Given the description of an element on the screen output the (x, y) to click on. 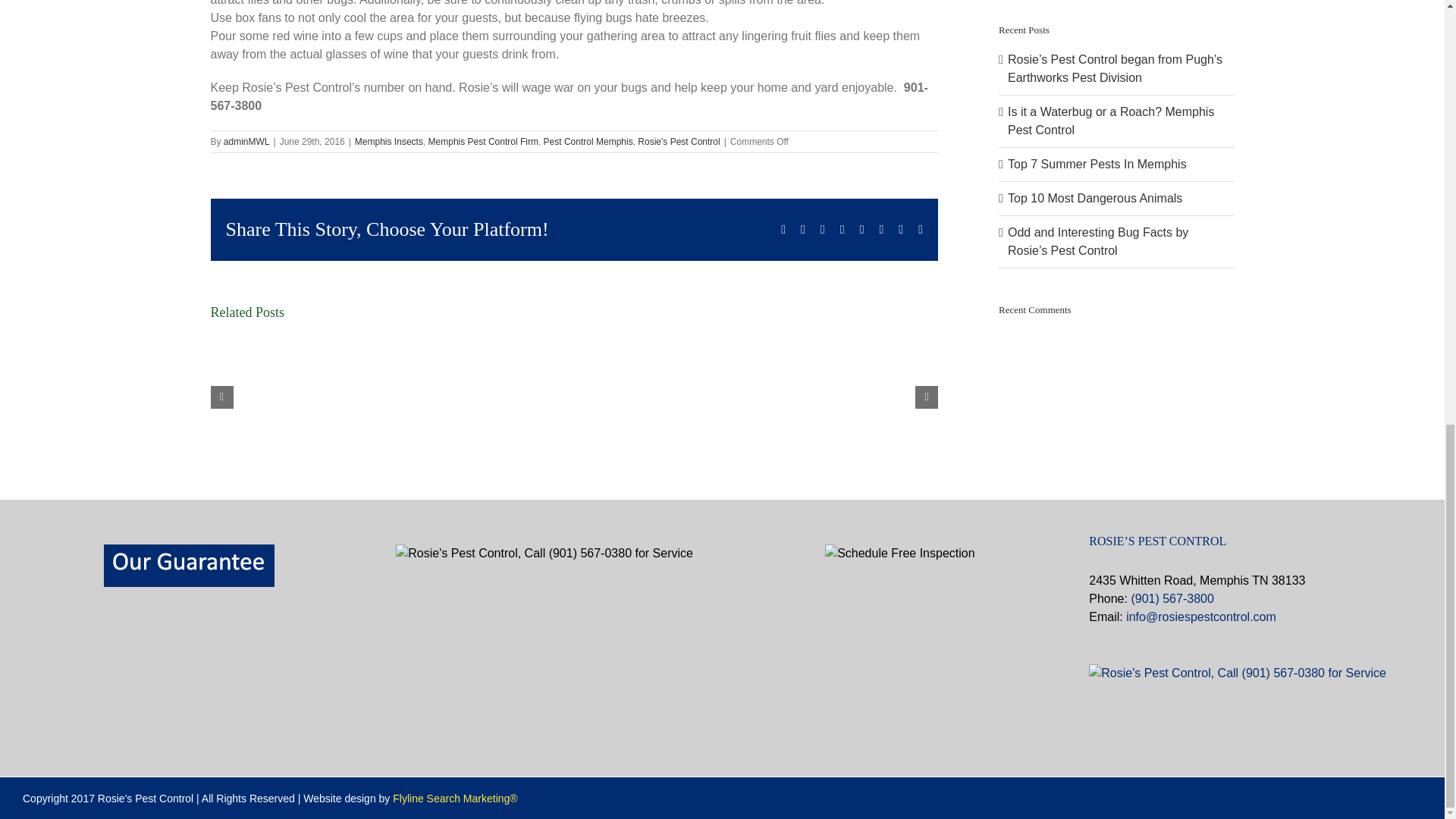
Memphis Insects (389, 141)
adminMWL (246, 141)
Posts by adminMWL (246, 141)
Rosie's Pest Control (678, 141)
Pest Control Memphis (588, 141)
Memphis Pest Control Firm (483, 141)
